Given the description of an element on the screen output the (x, y) to click on. 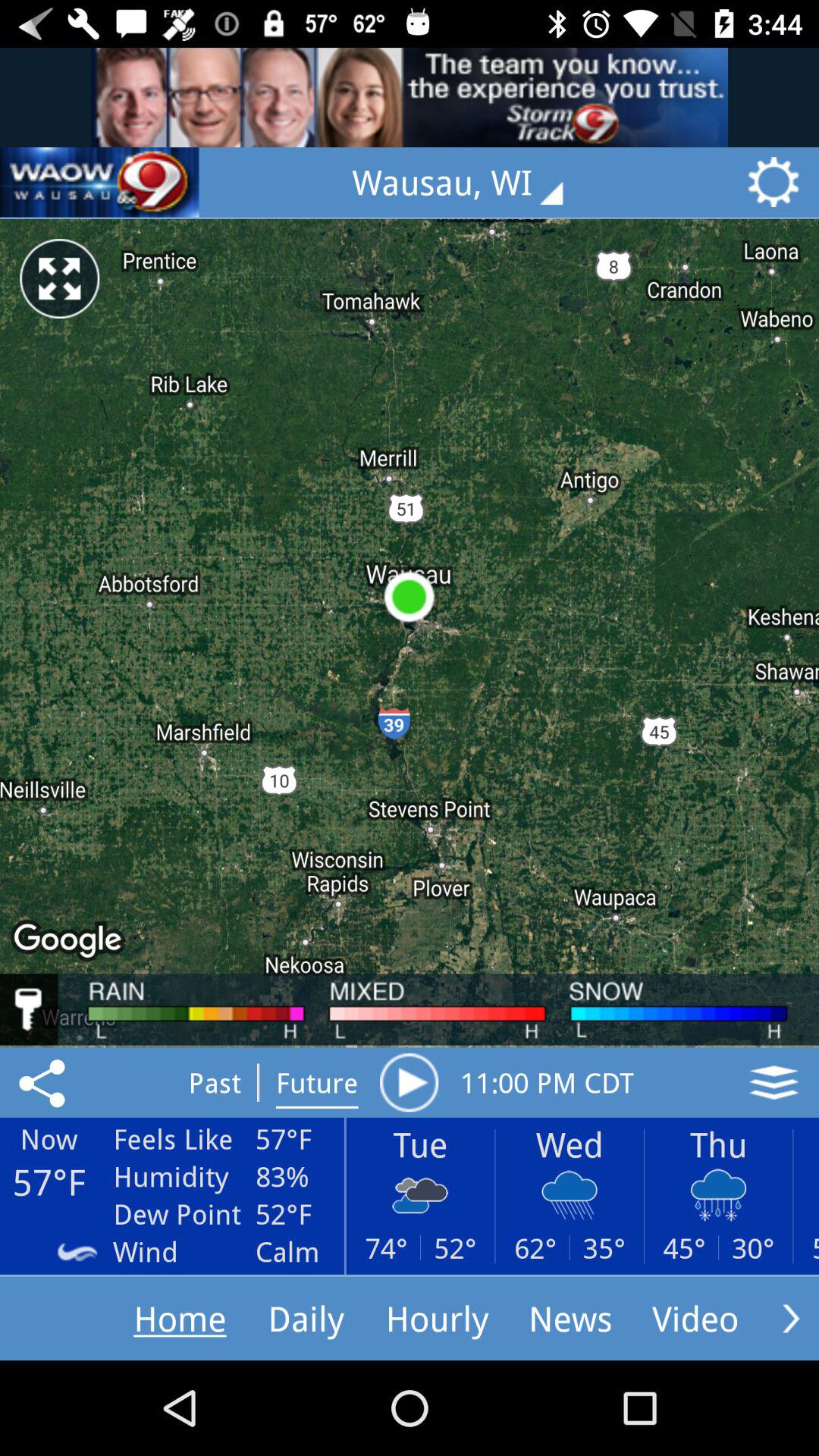
select the icon just below the text thu (718, 1195)
